Given the description of an element on the screen output the (x, y) to click on. 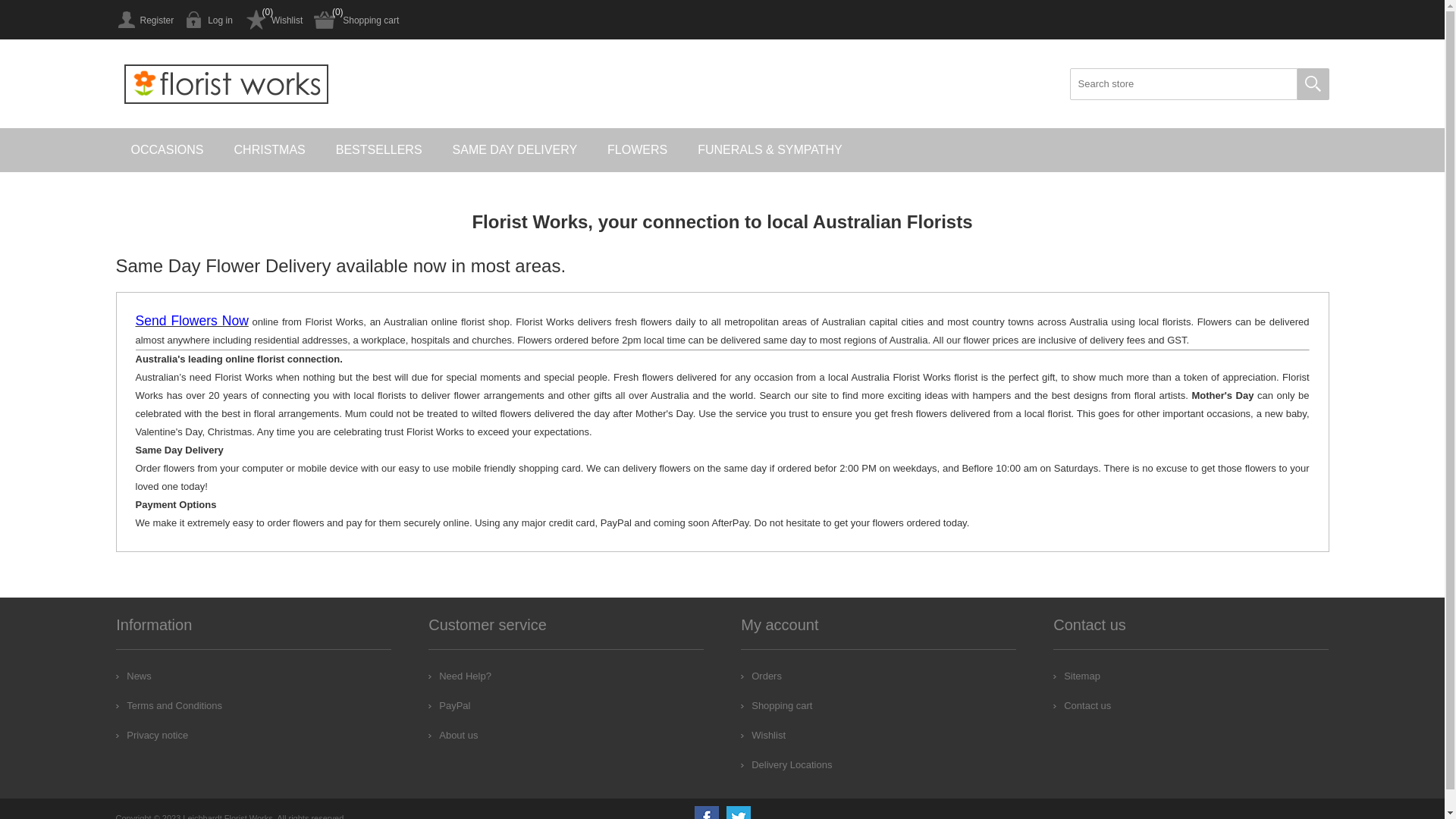
FLOWERS Element type: text (637, 150)
Delivery Locations Element type: text (785, 764)
SAME DAY DELIVERY Element type: text (515, 150)
About us Element type: text (452, 734)
Wishlist Element type: text (273, 19)
CHRISTMAS Element type: text (269, 150)
Orders Element type: text (760, 675)
Register Element type: text (144, 19)
Privacy notice Element type: text (152, 734)
Search Element type: text (1312, 84)
FUNERALS & SYMPATHY Element type: text (769, 150)
Need Help? Element type: text (459, 675)
Wishlist Element type: text (762, 734)
PayPal Element type: text (449, 705)
News Element type: text (133, 675)
BESTSELLERS Element type: text (378, 150)
OCCASIONS Element type: text (166, 150)
Contact us Element type: text (1081, 705)
Shopping cart Element type: text (776, 705)
Terms and Conditions Element type: text (169, 705)
Sitemap Element type: text (1076, 675)
Shopping cart Element type: text (355, 19)
Log in Element type: text (208, 19)
Send Flowers Now Element type: text (190, 321)
